Given the description of an element on the screen output the (x, y) to click on. 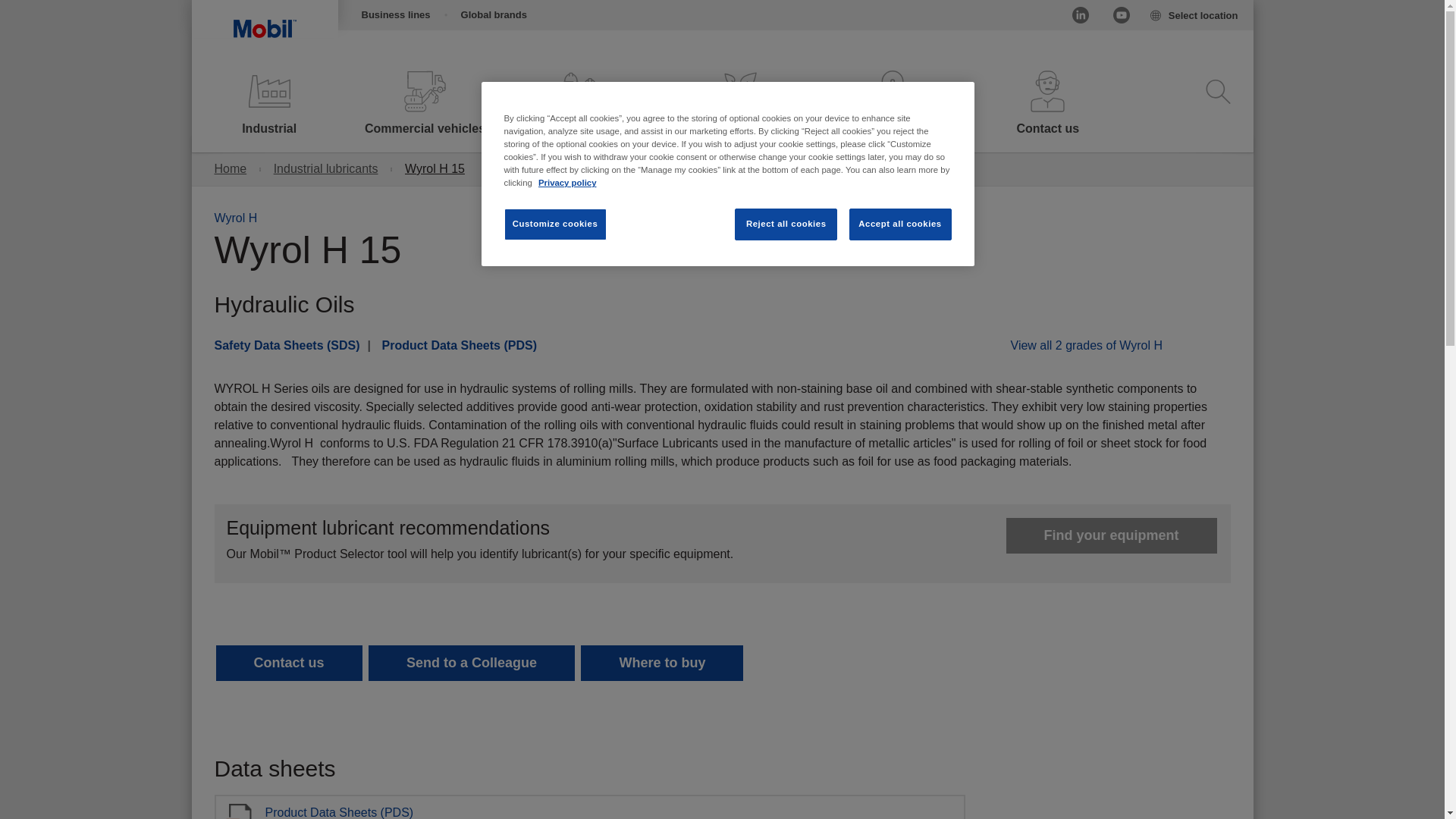
Global brands (493, 15)
Select location (1192, 15)
Business lines (391, 15)
Header Logo (263, 18)
